Given the description of an element on the screen output the (x, y) to click on. 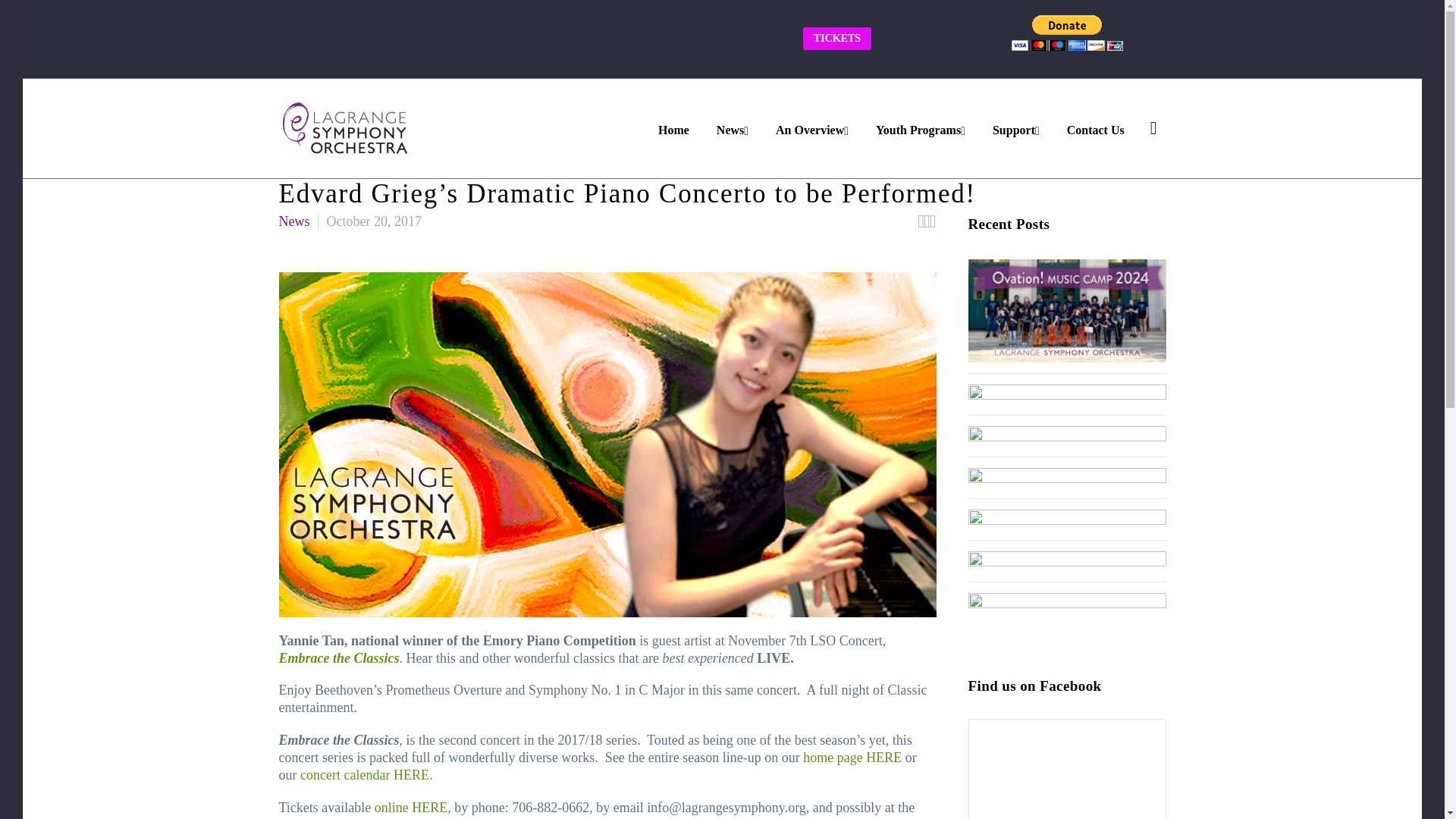
concert calendar HERE (364, 774)
An Overview (812, 128)
Contact Us (1097, 128)
Support (1016, 128)
News (294, 221)
View all posts in News (294, 221)
Embrace the Classics (338, 657)
TICKETS (836, 38)
home page HERE (852, 757)
Youth Programs (921, 128)
online HERE (411, 807)
